Given the description of an element on the screen output the (x, y) to click on. 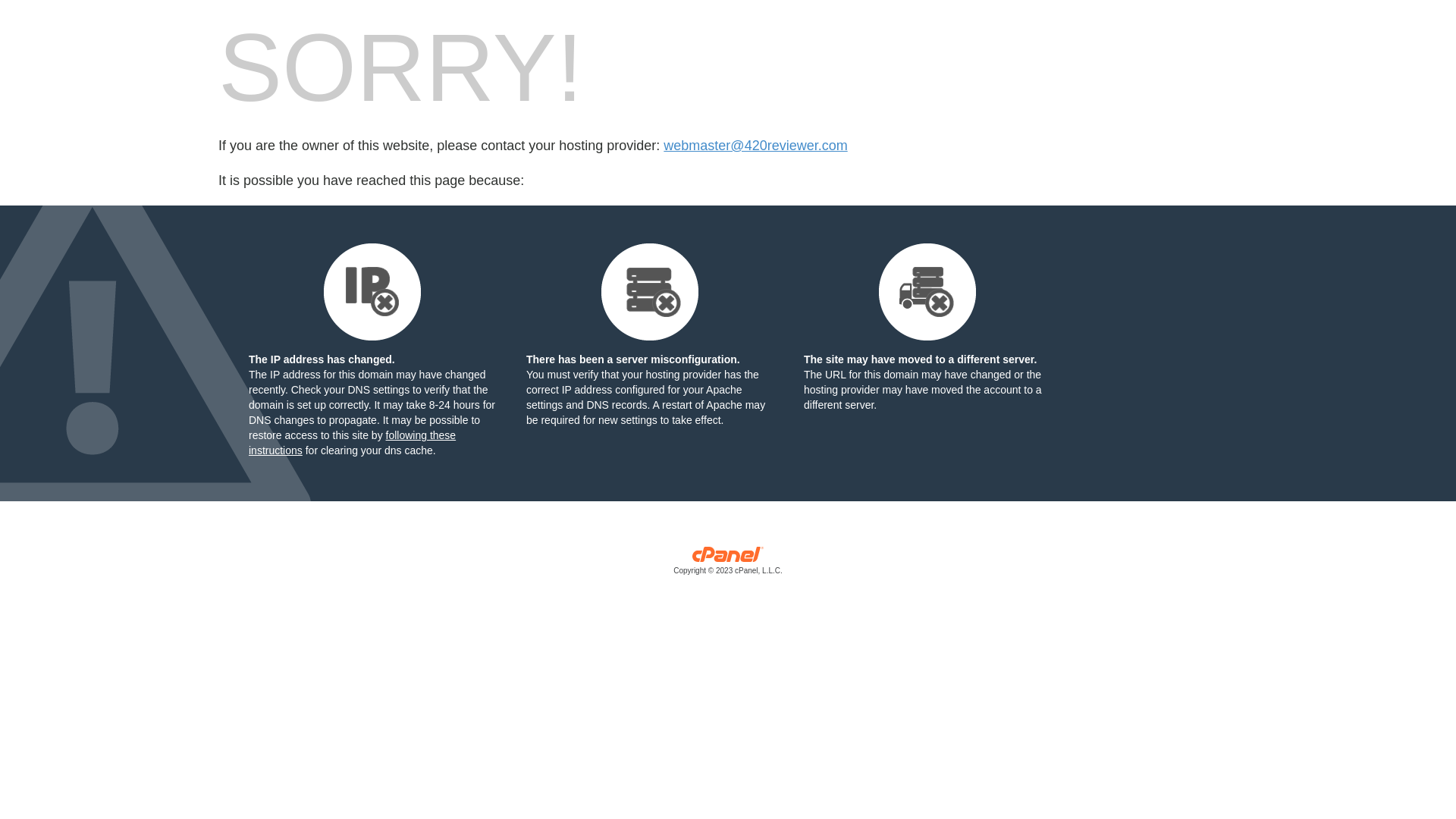
following these instructions Element type: text (351, 442)
webmaster@420reviewer.com Element type: text (755, 145)
